Given the description of an element on the screen output the (x, y) to click on. 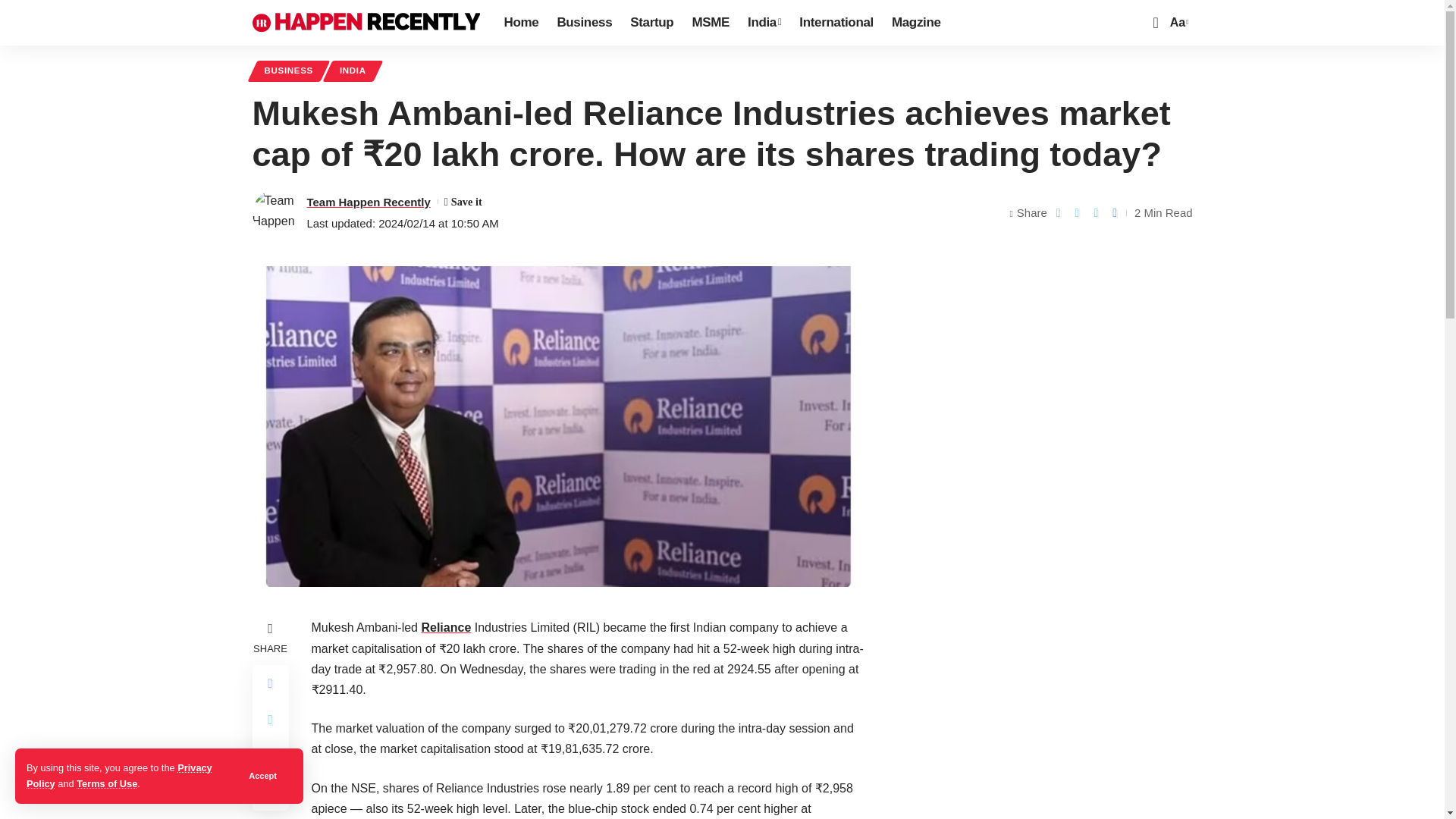
Privacy Policy (119, 775)
MSME (710, 22)
India (764, 22)
Aa (1177, 22)
Terms of Use (106, 783)
Business (584, 22)
Home (521, 22)
Magzine (916, 22)
International (836, 22)
Startup (651, 22)
